Given the description of an element on the screen output the (x, y) to click on. 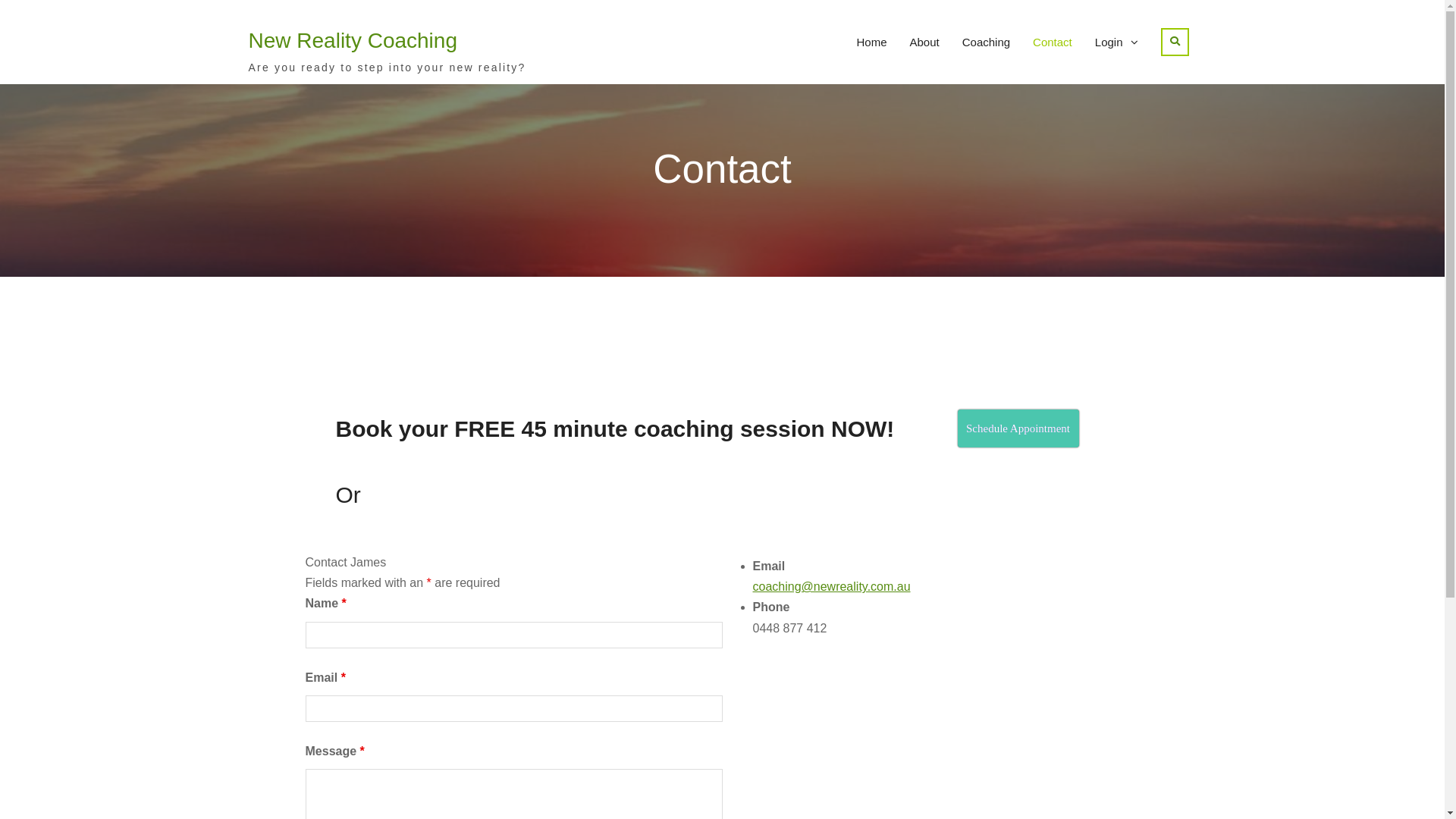
Contact Element type: text (1052, 42)
Home Element type: text (870, 42)
New Reality Coaching Element type: text (352, 40)
Coaching Element type: text (985, 42)
Search Element type: text (1174, 42)
About Element type: text (923, 42)
Login Element type: text (1116, 42)
coaching@newreality.com.au Element type: text (831, 586)
Schedule Appointment Element type: text (1018, 428)
